Given the description of an element on the screen output the (x, y) to click on. 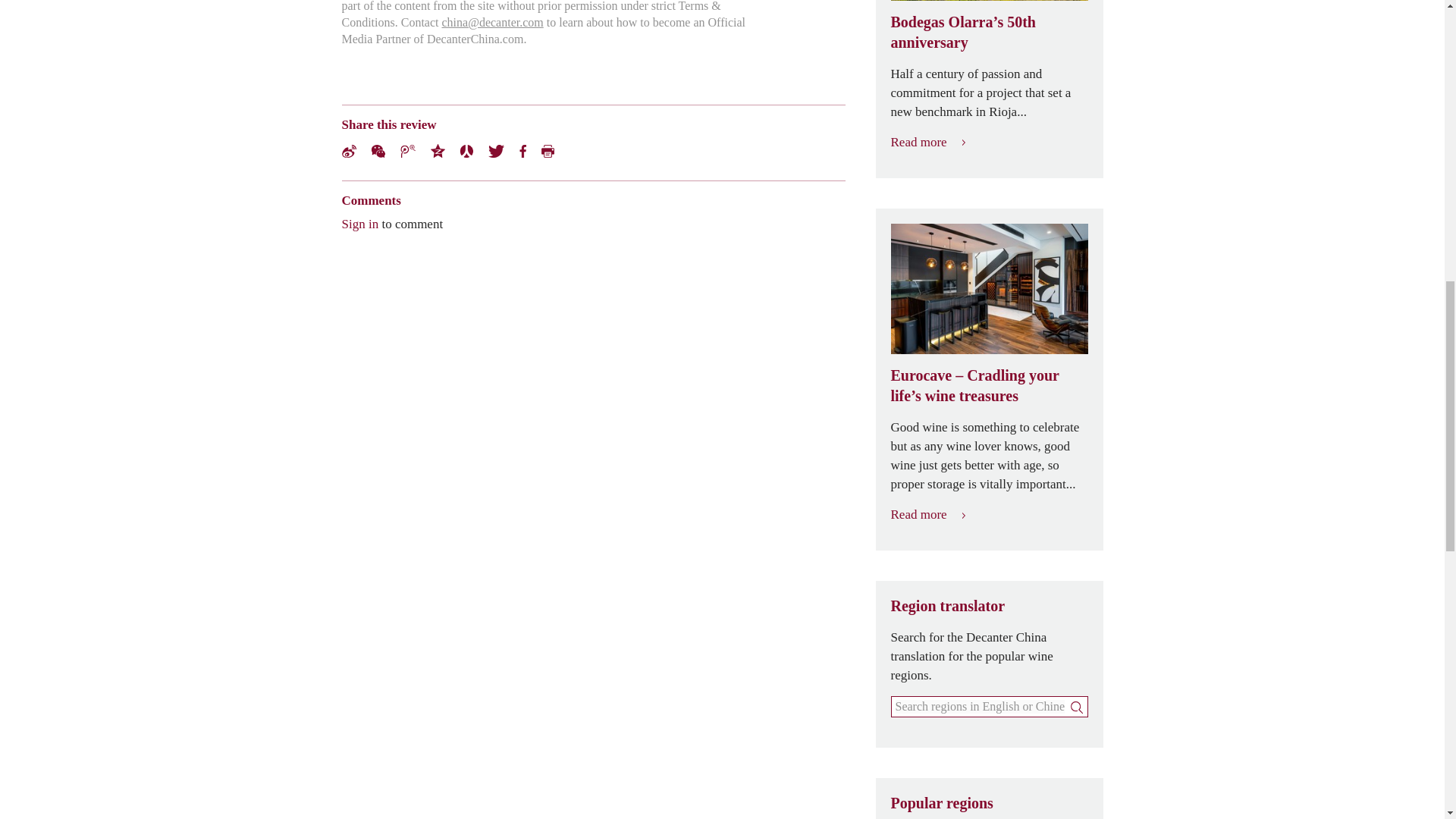
QZone (437, 151)
Print (547, 150)
Search regions in English or Chinese (979, 706)
Twitter (495, 150)
WeChat (378, 150)
Tencent Weibo (407, 150)
Search regions in English or Chinese (979, 706)
Renren (465, 150)
Weibo (347, 150)
